Given the description of an element on the screen output the (x, y) to click on. 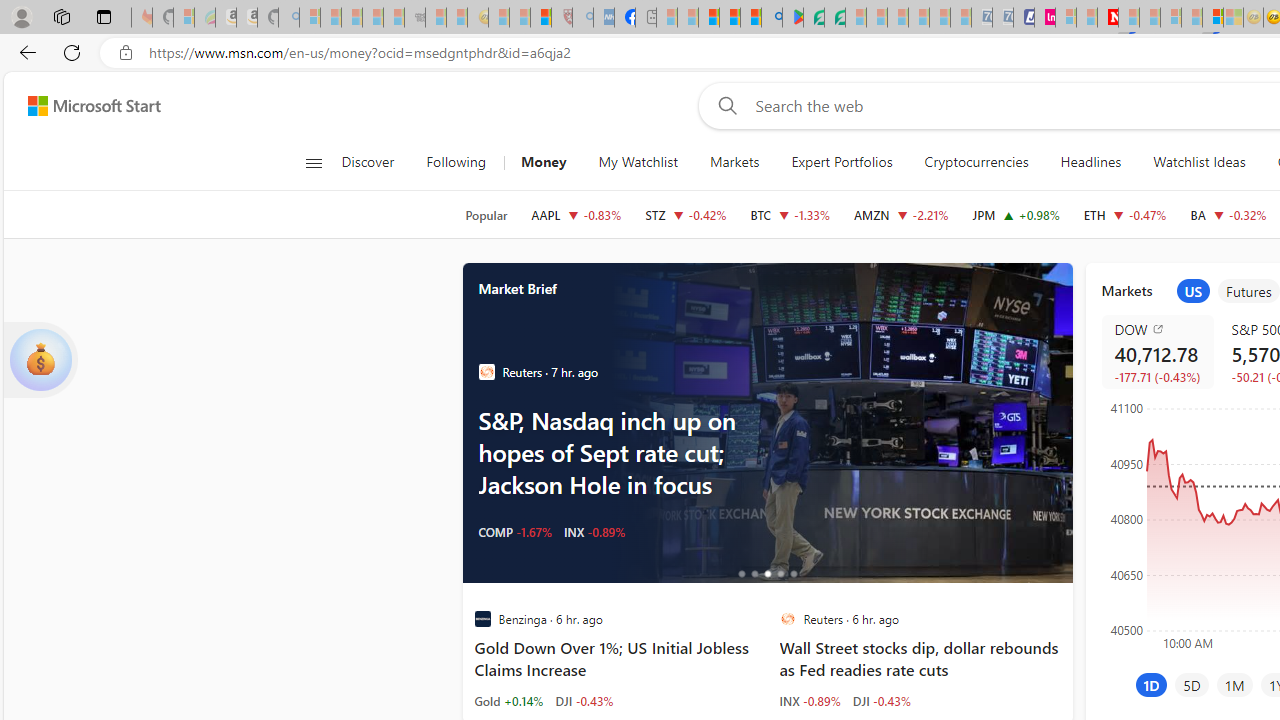
14 Common Myths Debunked By Scientific Facts - Sleeping (1149, 17)
Markets (733, 162)
Cheap Hotels - Save70.com - Sleeping (1002, 17)
5D (1192, 684)
Benzinga (482, 619)
DJI -0.43% (881, 700)
ETH Ethereum decrease 2,623.15 -12.43 -0.47% (1124, 214)
Gold +0.14% (508, 700)
Expert Portfolios (841, 162)
MSNBC - MSN - Sleeping (666, 17)
